Given the description of an element on the screen output the (x, y) to click on. 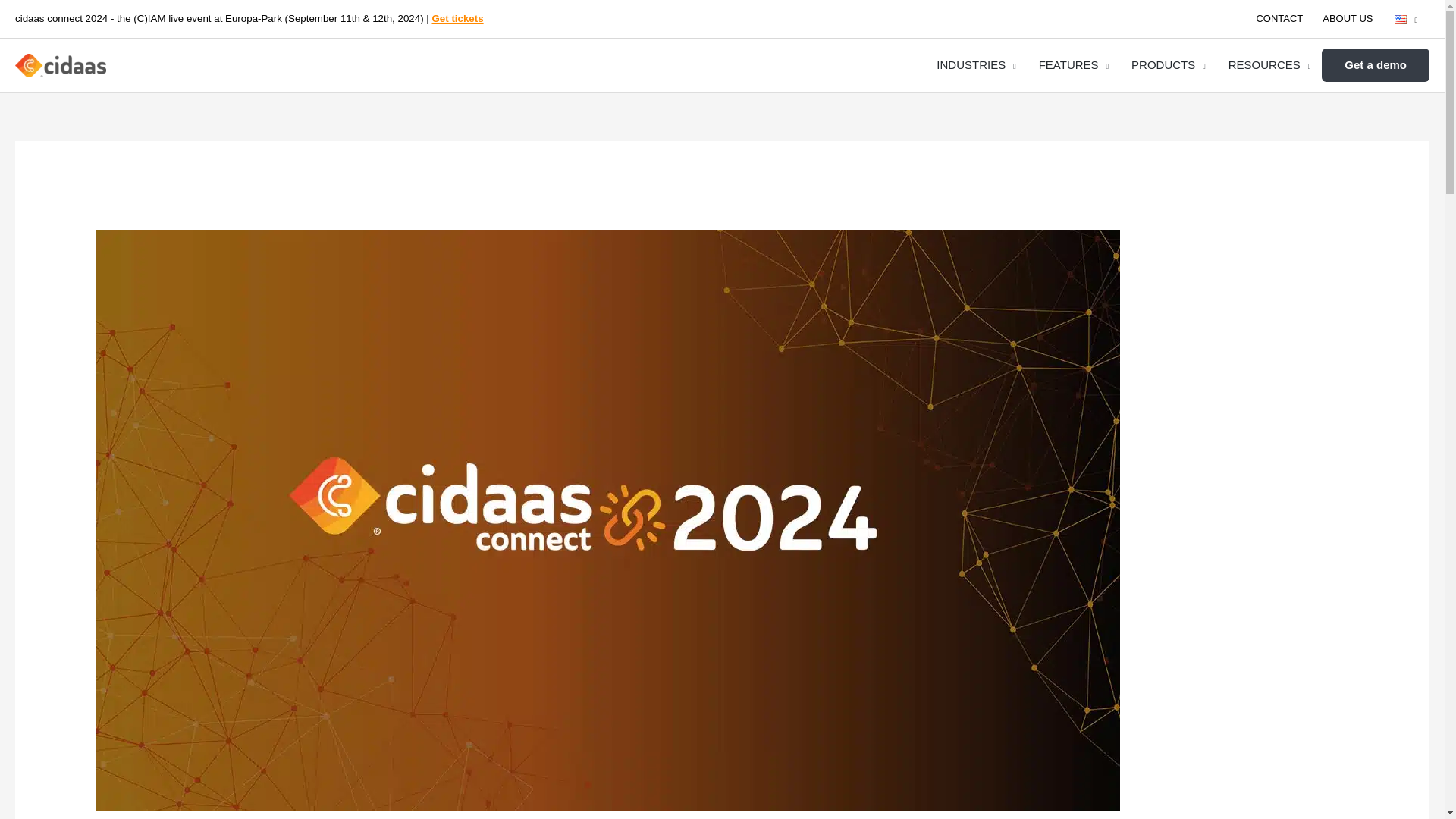
cidaas connect 2024 (607, 519)
FEATURES (1073, 64)
CONTACT (1279, 18)
INDUSTRIES (975, 64)
ABOUT US (1347, 18)
Get tickets (456, 20)
